Given the description of an element on the screen output the (x, y) to click on. 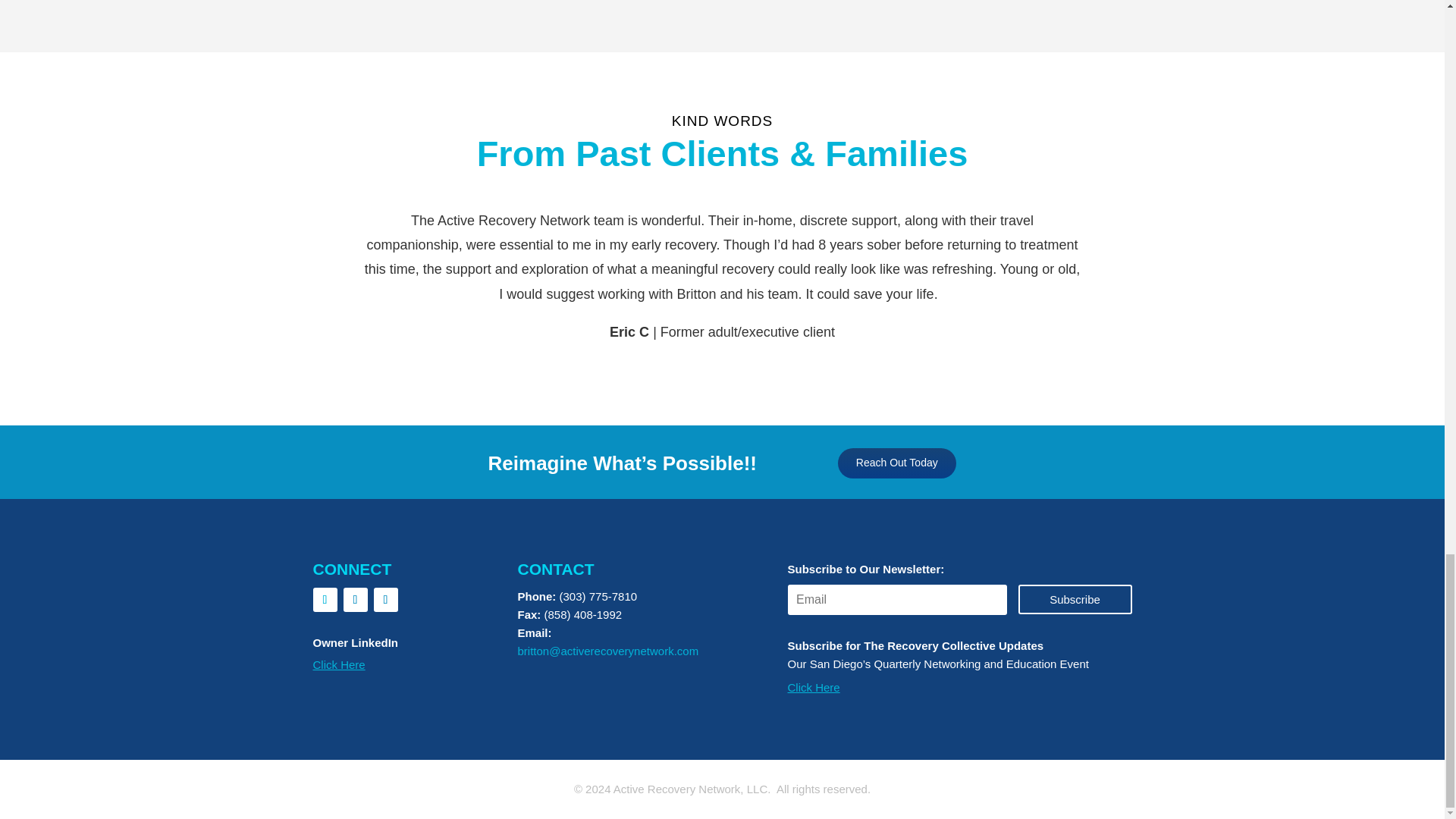
Follow on LinkedIn (384, 599)
Follow on Facebook (324, 599)
Follow on Instagram (354, 599)
